Given the description of an element on the screen output the (x, y) to click on. 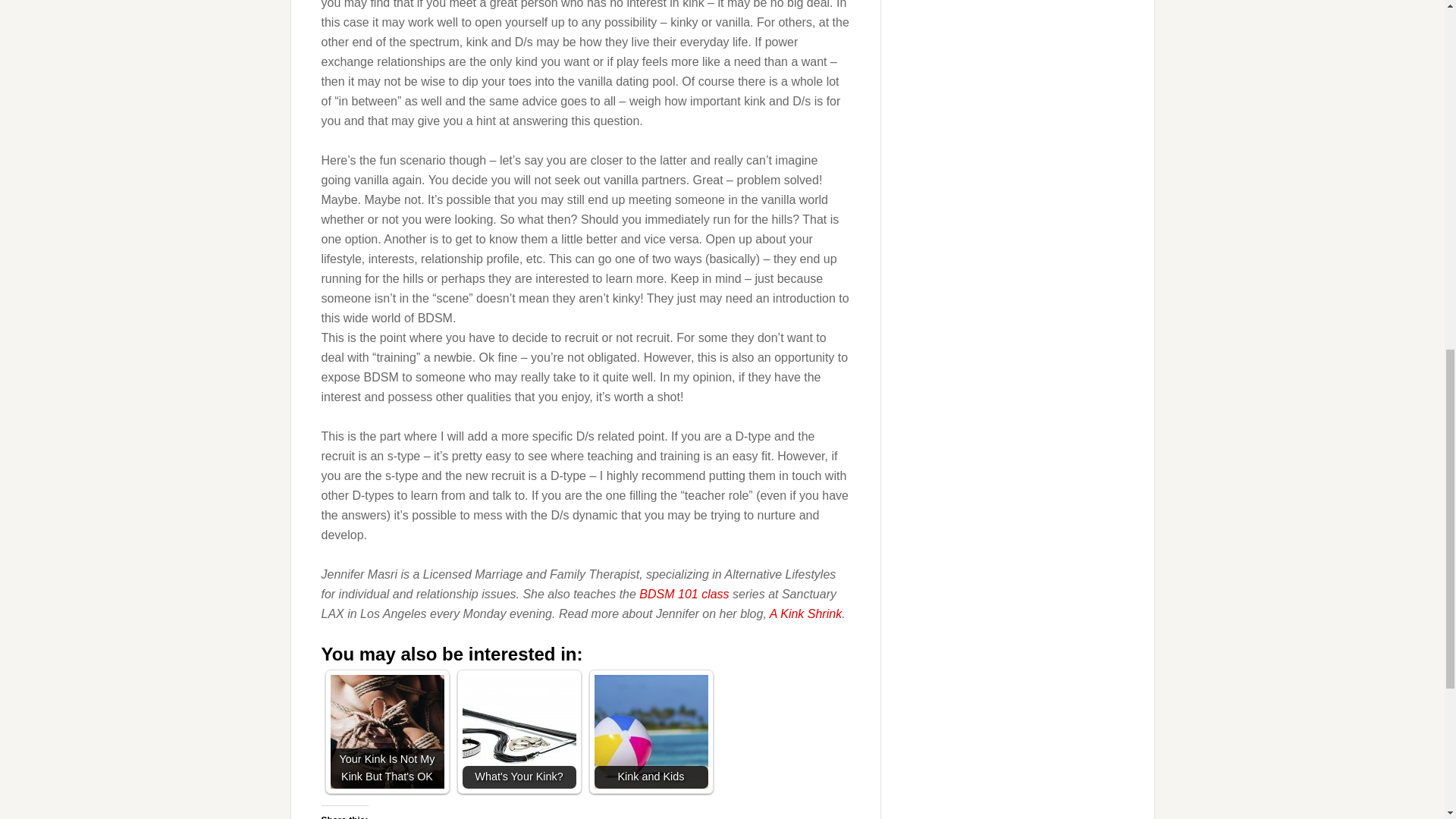
A Kink Shrink (805, 613)
Your Kink Is Not My Kink But That's OK (387, 731)
BDSM 101 class (684, 594)
Kink and Kids (650, 731)
What's Your Kink? (519, 731)
Kink and Kids (650, 731)
Your Kink Is Not My Kink But  That's OK (387, 731)
What's Your Kink? (519, 731)
